Given the description of an element on the screen output the (x, y) to click on. 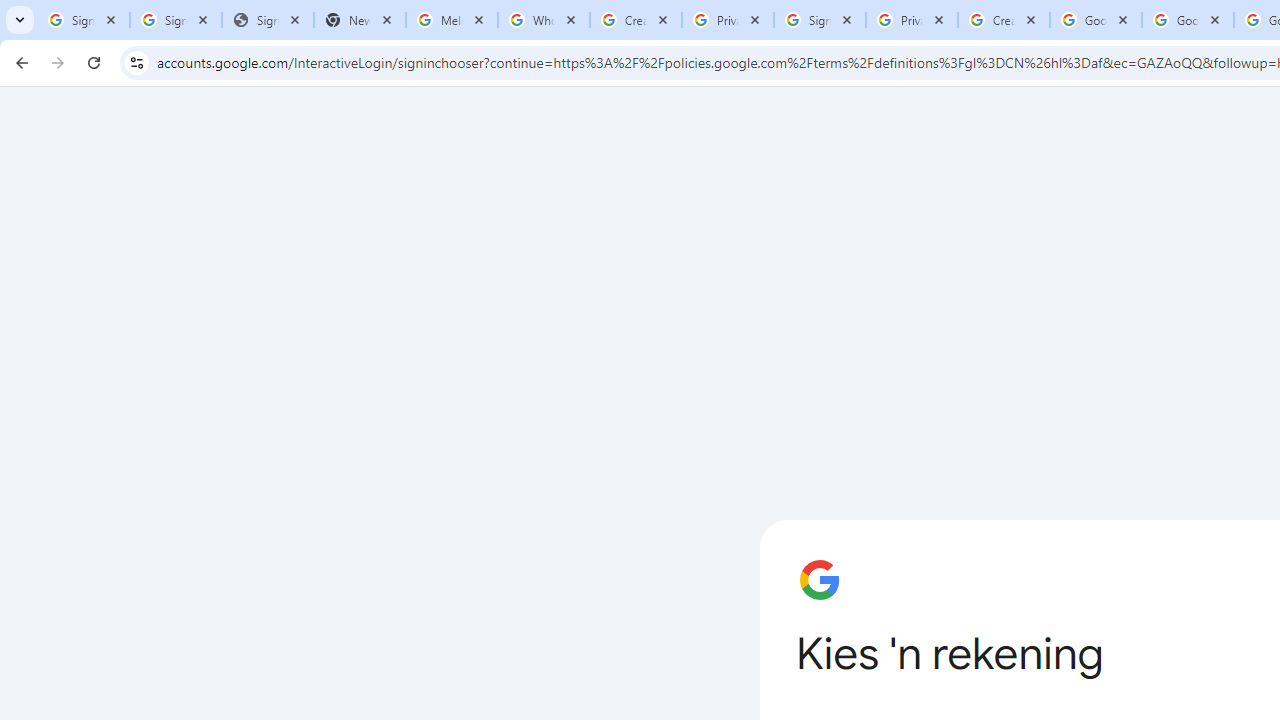
Save As (104, 668)
Documents (866, 224)
Add a Place (507, 501)
